Given the description of an element on the screen output the (x, y) to click on. 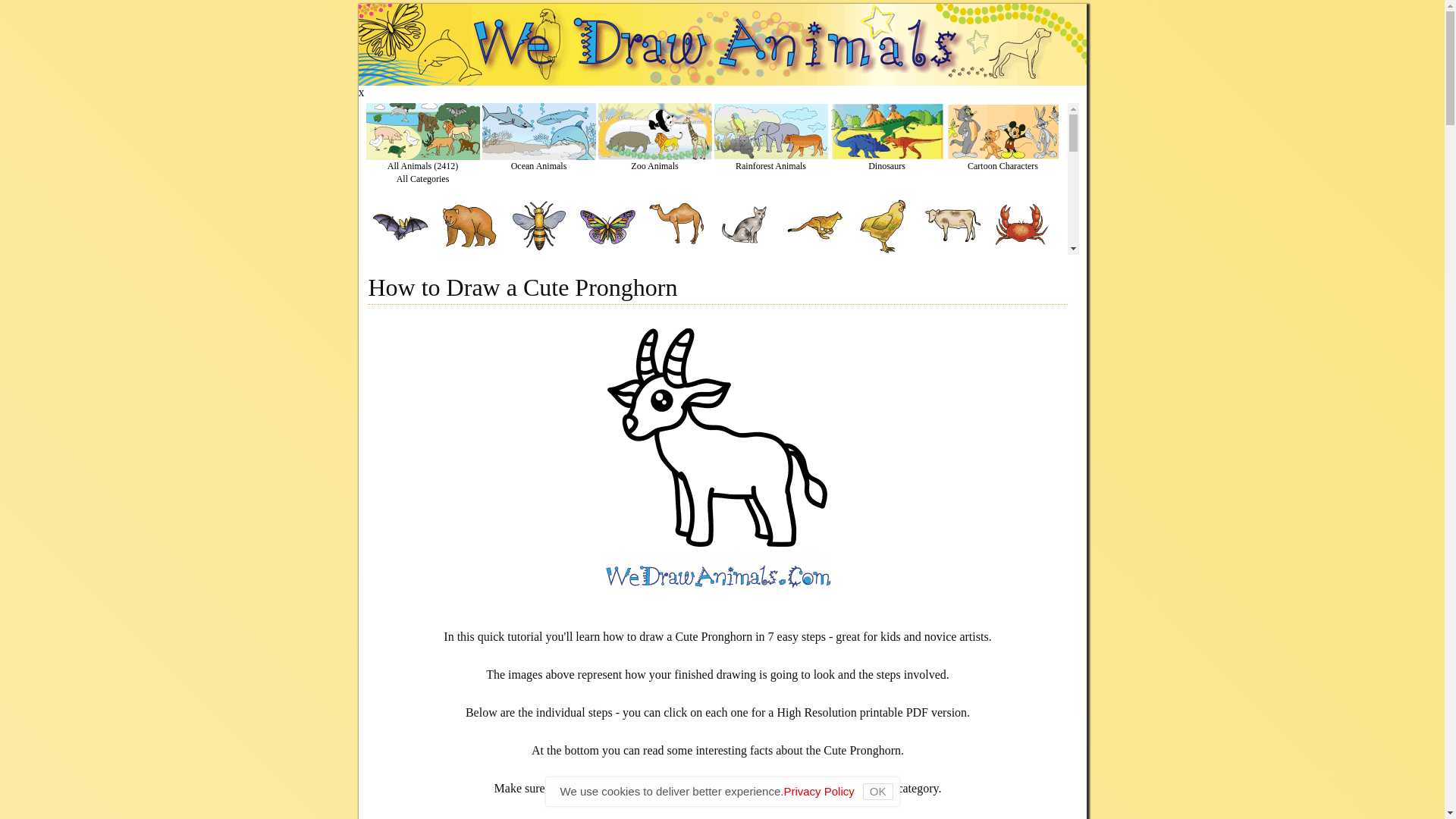
Camel (675, 265)
Deer (399, 353)
Ocean Animals (538, 170)
Dolphin (537, 353)
Butterfly (607, 265)
Cow (951, 265)
Cat (745, 265)
Bat (399, 265)
Bee (537, 265)
Dog (469, 353)
Bear (469, 265)
Zoo Animals (653, 170)
Rainforest Animals (771, 170)
Dinosaurs (886, 170)
Cheetah (814, 265)
